Given the description of an element on the screen output the (x, y) to click on. 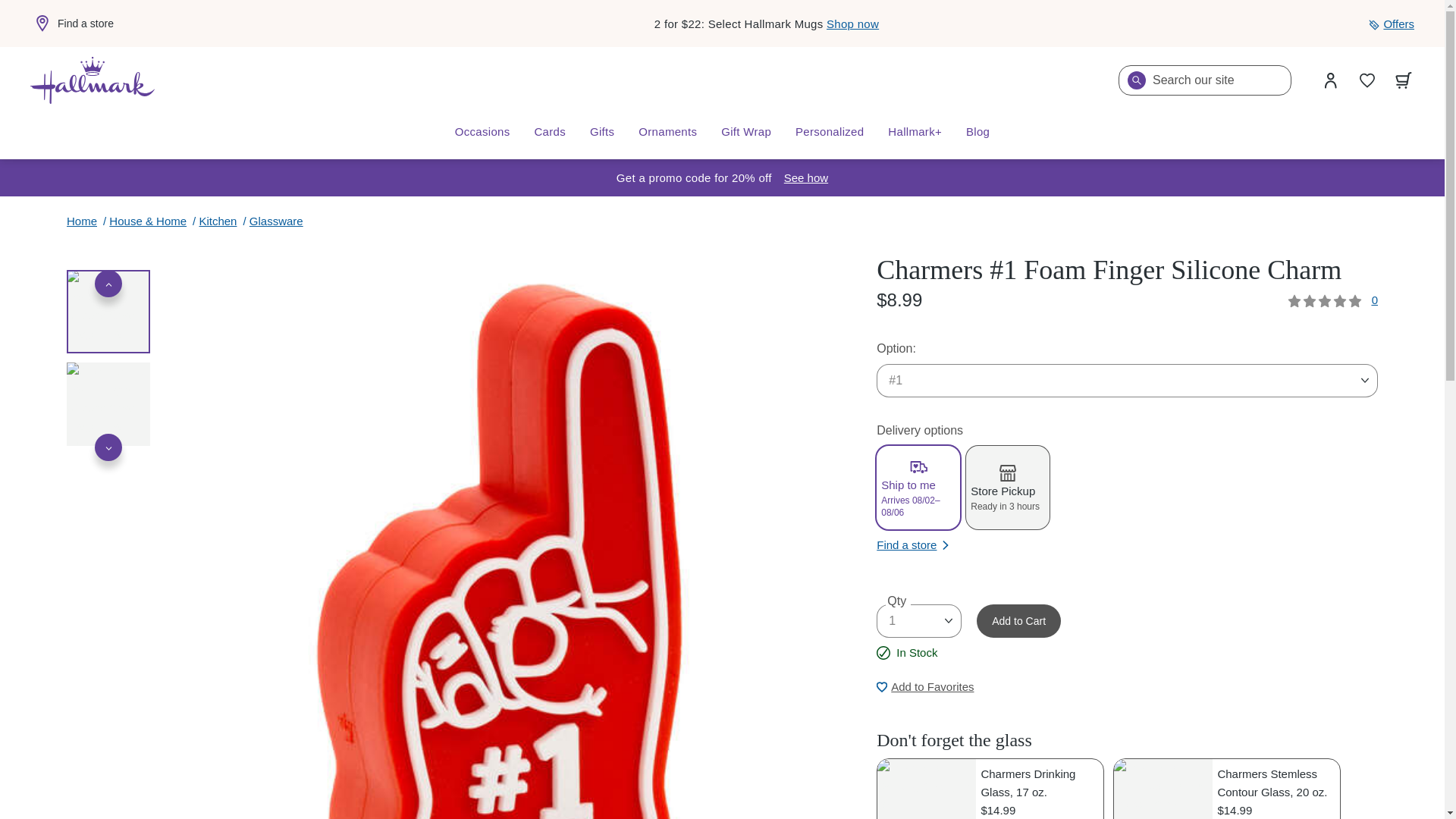
Shop now (853, 22)
View your cart (1404, 80)
Previous item (108, 283)
Wish List (1367, 80)
Offers (1390, 23)
Home page (92, 80)
Search (1135, 80)
Next item (108, 447)
Open shipping dates modal (806, 177)
Find a store (71, 23)
